Given the description of an element on the screen output the (x, y) to click on. 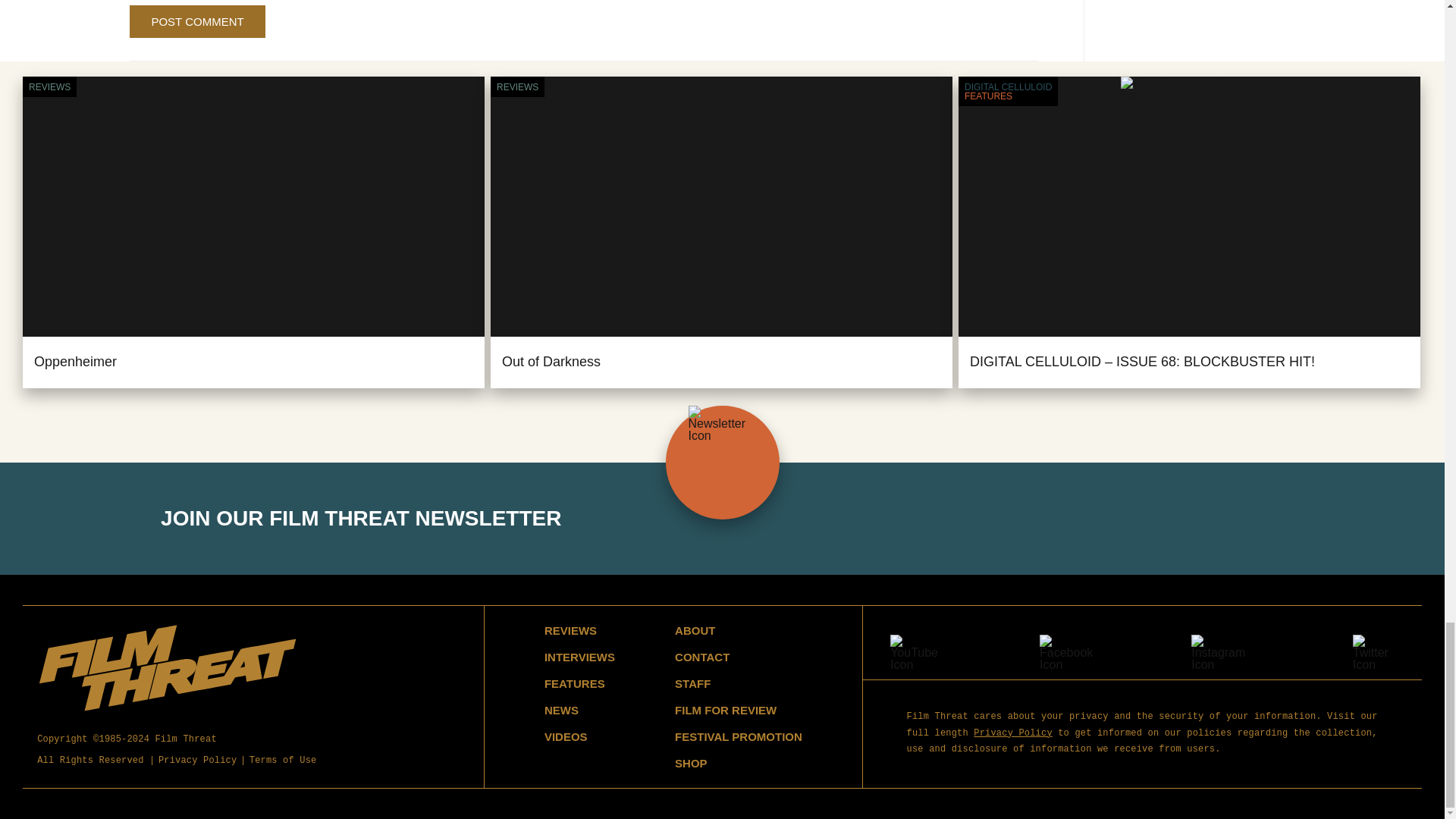
Post Comment (196, 20)
Reviews (517, 86)
DIGITAL CELLULOID (1007, 86)
REVIEWS (517, 86)
Out of Darkness (550, 361)
Features (1007, 95)
Post Comment (196, 20)
FEATURES (1007, 95)
Oppenheimer (74, 361)
Digital Celluloid (1007, 86)
REVIEWS (49, 86)
Reviews (49, 86)
